Given the description of an element on the screen output the (x, y) to click on. 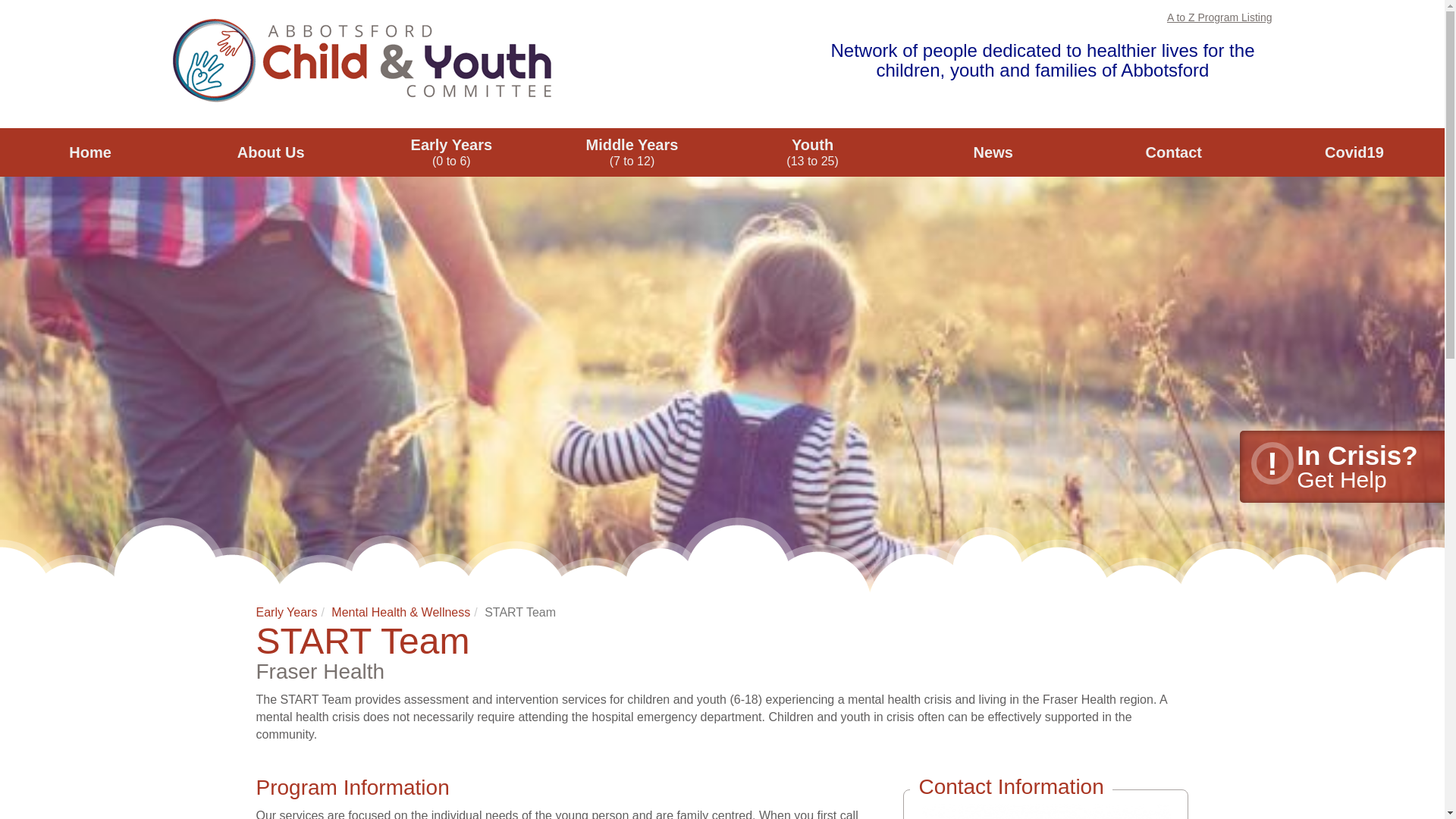
About Us (270, 152)
Home (90, 152)
A to Z Program Listing (1219, 17)
